Given the description of an element on the screen output the (x, y) to click on. 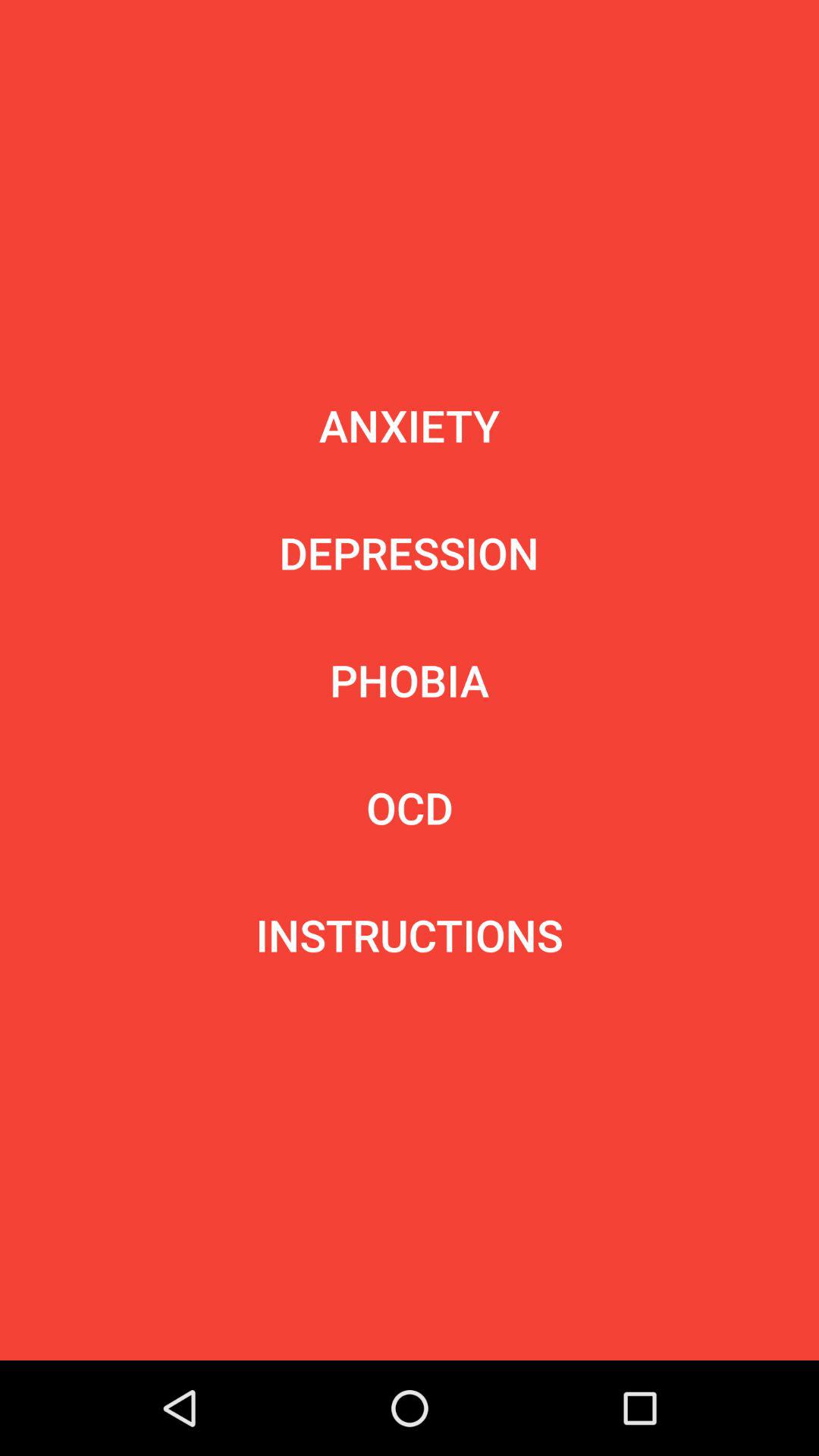
click item above ocd item (409, 680)
